Given the description of an element on the screen output the (x, y) to click on. 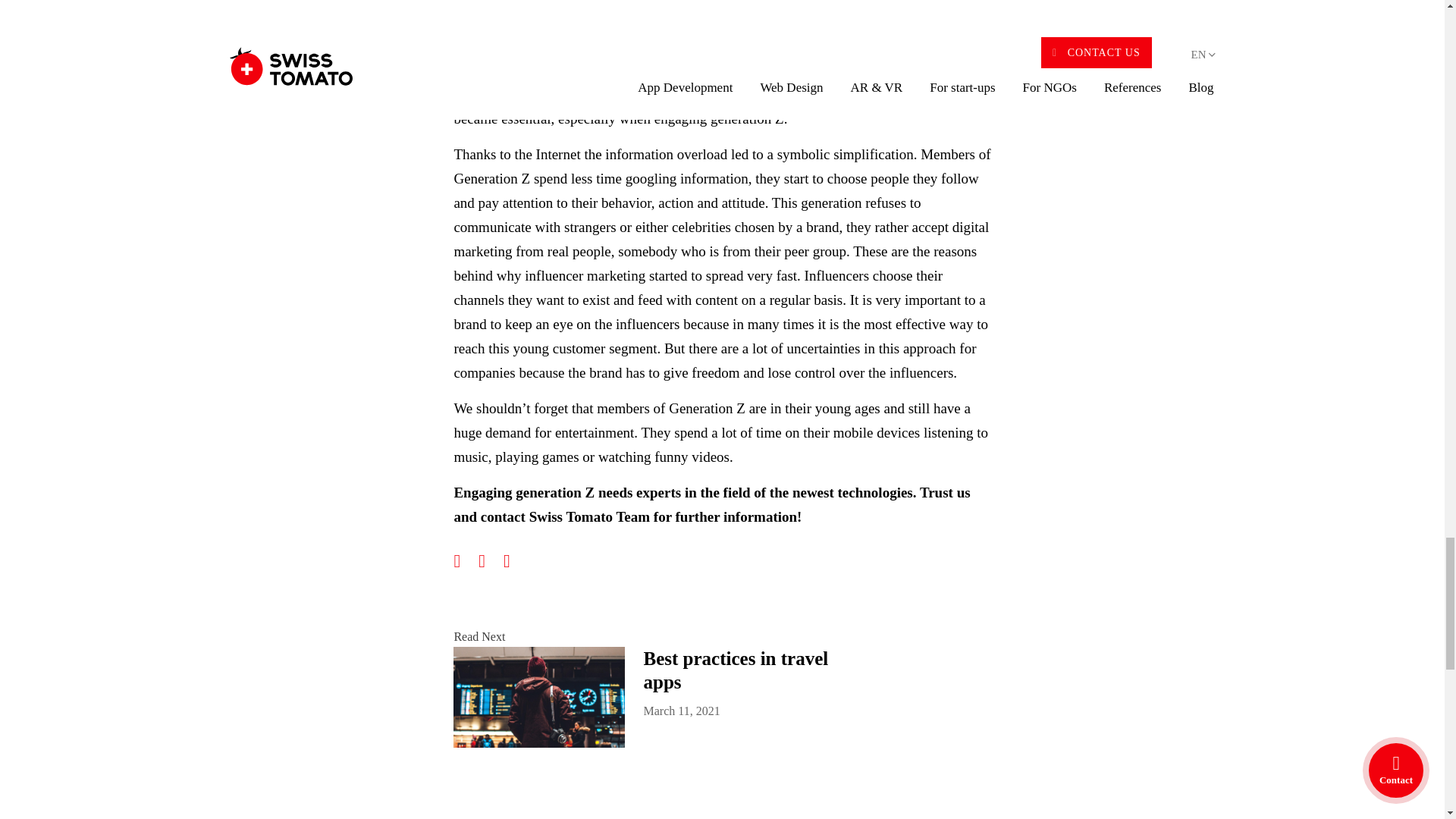
Best practices in travel apps (745, 670)
